Given the description of an element on the screen output the (x, y) to click on. 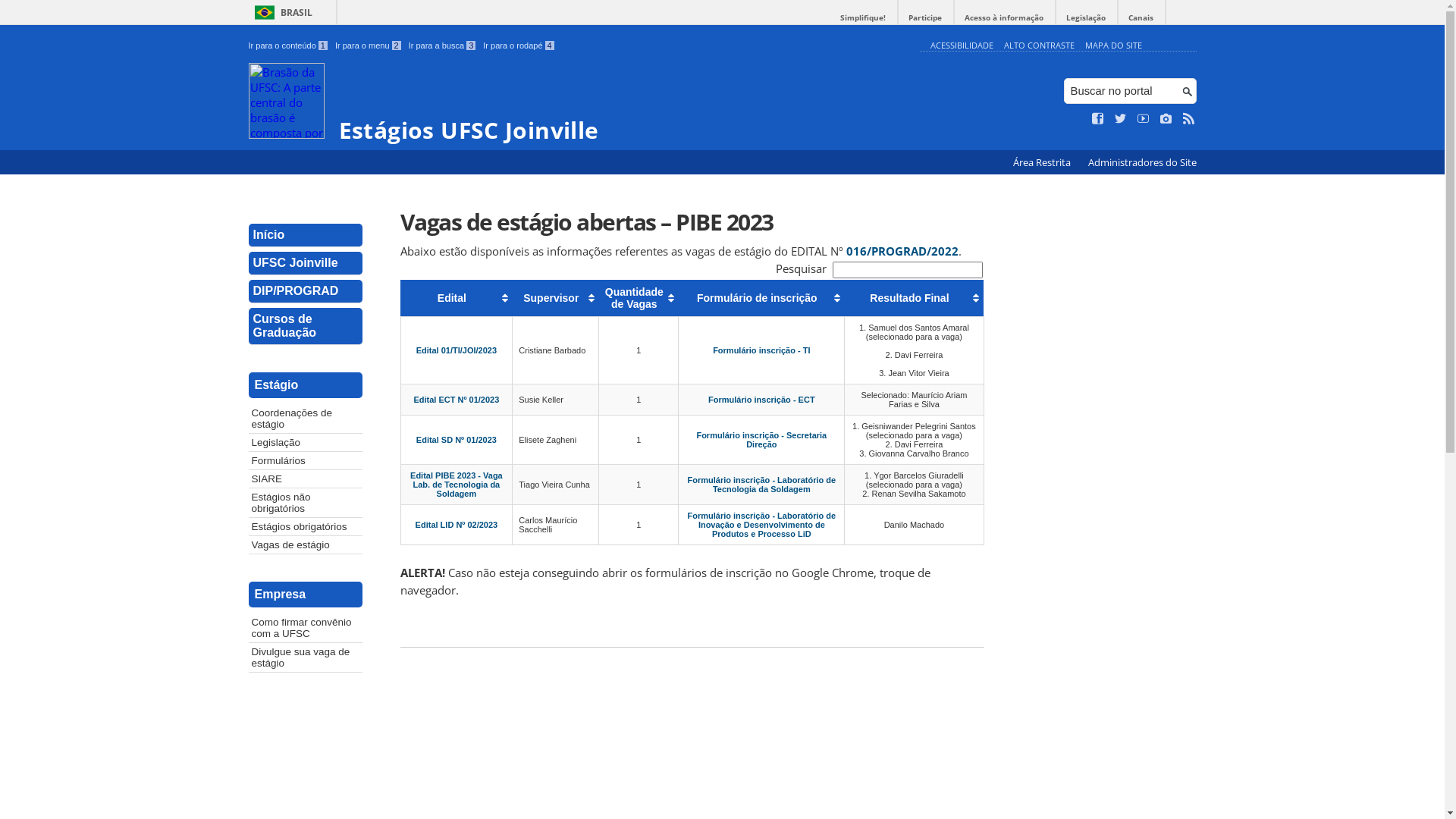
ALTO CONTRASTE Element type: text (1039, 44)
Edital 01/TI/JOI/2023 Element type: text (456, 349)
Veja no Instagram Element type: hover (1166, 118)
Curta no Facebook Element type: hover (1098, 118)
Simplifique! Element type: text (862, 18)
UFSC Joinville Element type: text (305, 263)
Canais Element type: text (1140, 18)
SIARE Element type: text (305, 478)
Edital PIBE 2023 - Vaga Lab. de Tecnologia da Soldagem Element type: text (456, 484)
Participe Element type: text (924, 18)
Siga no Twitter Element type: hover (1120, 118)
MAPA DO SITE Element type: text (1112, 44)
Administradores do Site Element type: text (1141, 162)
DIP/PROGRAD Element type: text (305, 291)
Ir para o menu 2 Element type: text (368, 45)
BRASIL Element type: text (280, 12)
ACESSIBILIDADE Element type: text (960, 44)
016/PROGRAD/2022 Element type: text (902, 250)
Ir para a busca 3 Element type: text (442, 45)
